Given the description of an element on the screen output the (x, y) to click on. 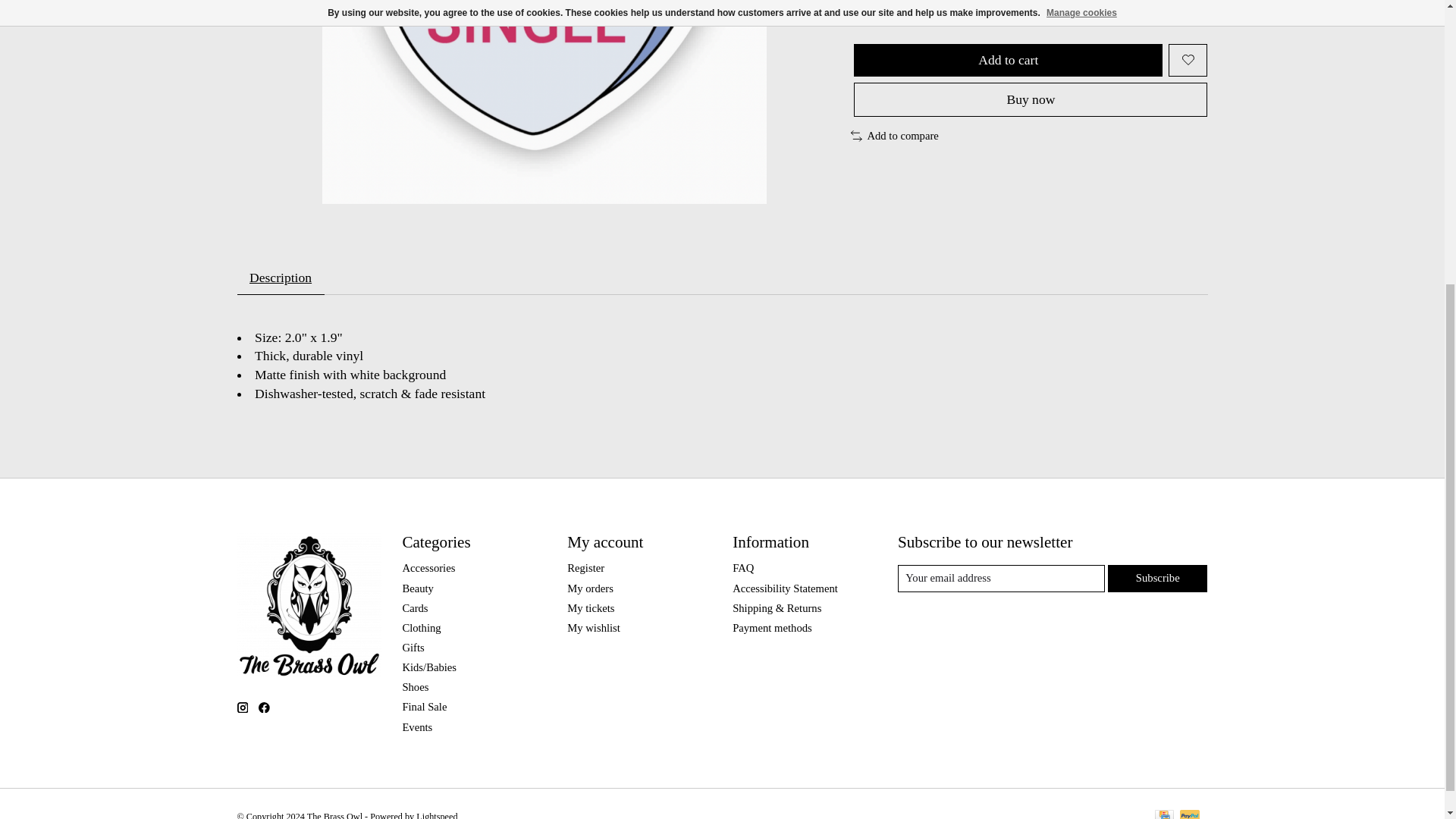
FAQ (743, 567)
My wishlist (593, 627)
My orders (589, 588)
My tickets (590, 607)
Payment methods (772, 627)
1 (886, 11)
Register (585, 567)
Accessibility Statement (785, 588)
